Given the description of an element on the screen output the (x, y) to click on. 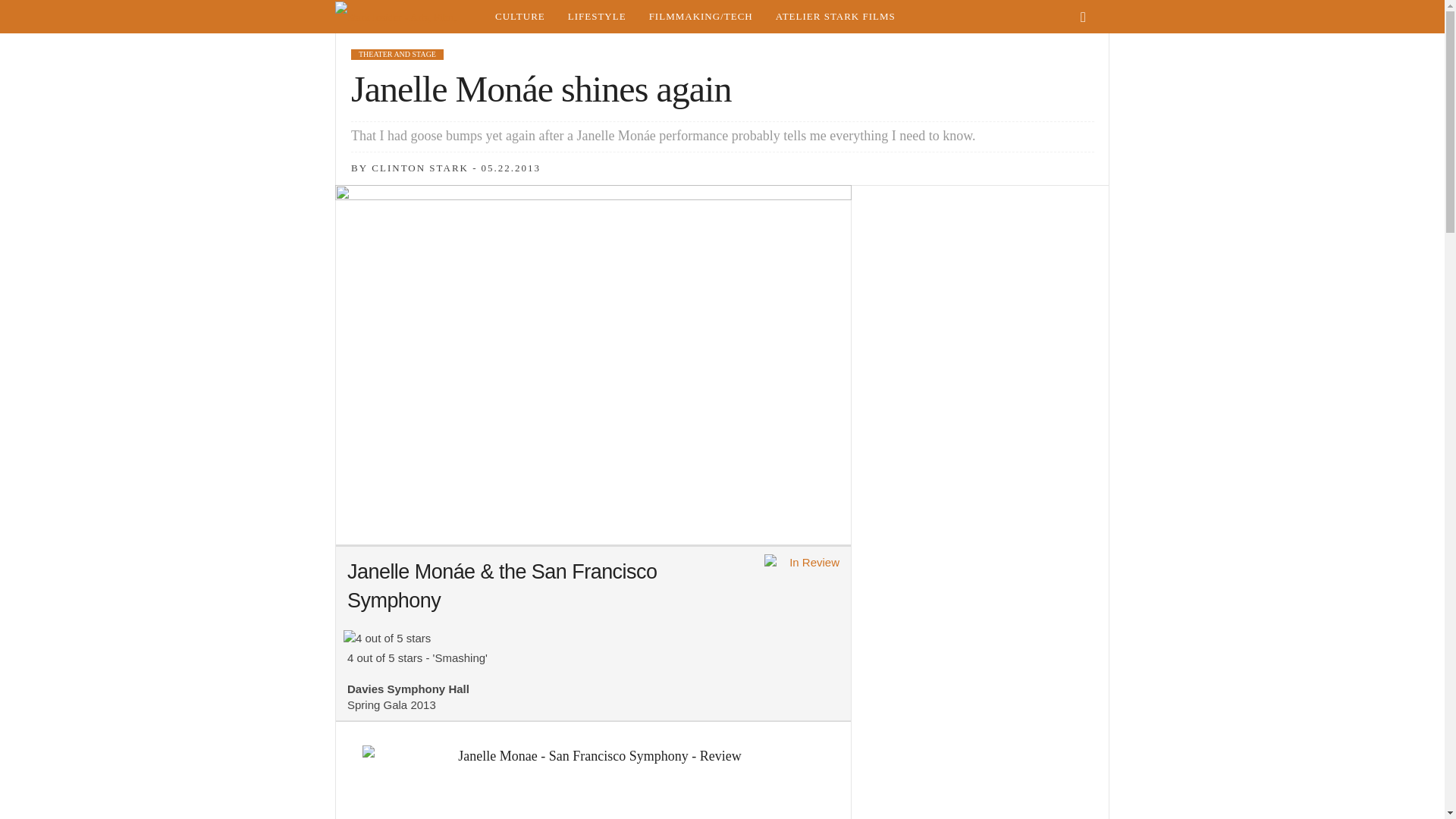
Indie film, music, arts in San Francisco and Silicon Valley (519, 16)
CLINTON STARK (419, 167)
Tech, gadgets, camera news and reviews from Silicon Valley (700, 16)
In Review (802, 564)
THEATER AND STAGE (397, 54)
LIFESTYLE (596, 16)
CULTURE (519, 16)
4 out of 5 stars (386, 637)
